Given the description of an element on the screen output the (x, y) to click on. 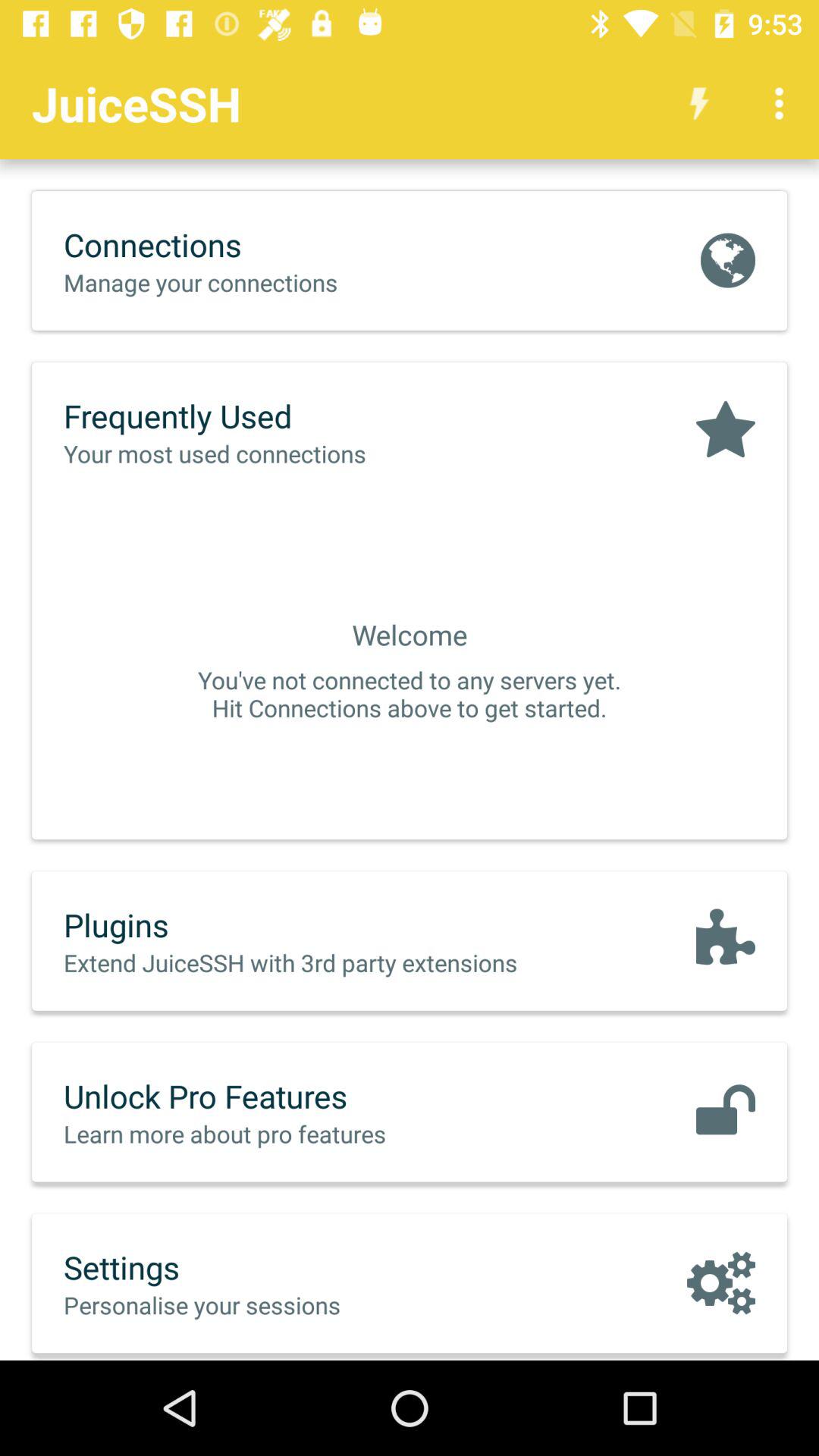
click the icon on the right (725, 940)
